Given the description of an element on the screen output the (x, y) to click on. 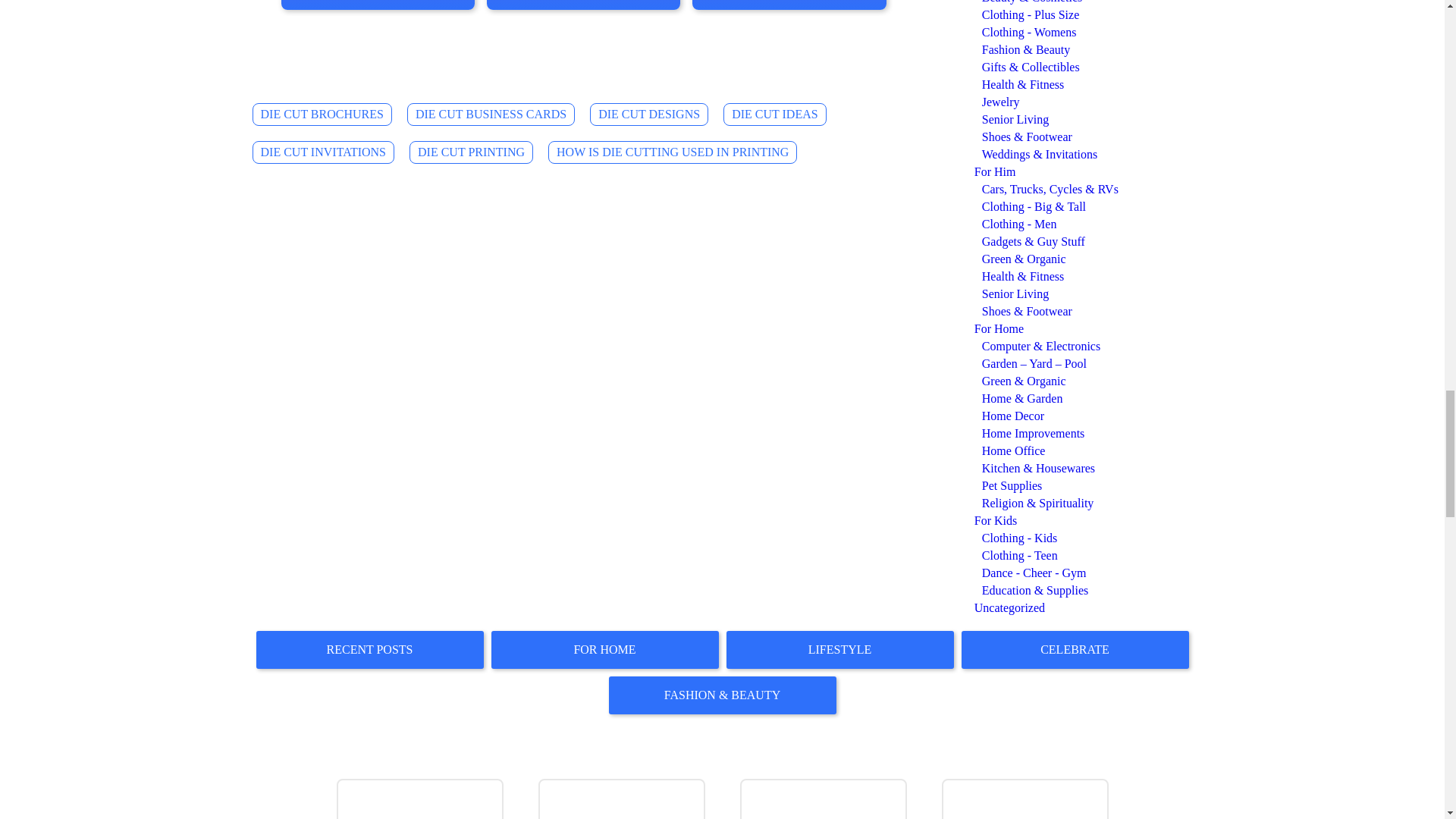
Order Free Catalogs from Grand Furniture (1026, 799)
For Home (605, 649)
Order Free Catalogs from The Fabric Fairy (623, 799)
Order Free Catalogs from ellos - Full Beauty Brands (824, 799)
Order Free Catalogs from Pyramid Collection (421, 799)
Celebrate (1074, 649)
Lifestyle (839, 649)
Recent Posts (369, 649)
